Given the description of an element on the screen output the (x, y) to click on. 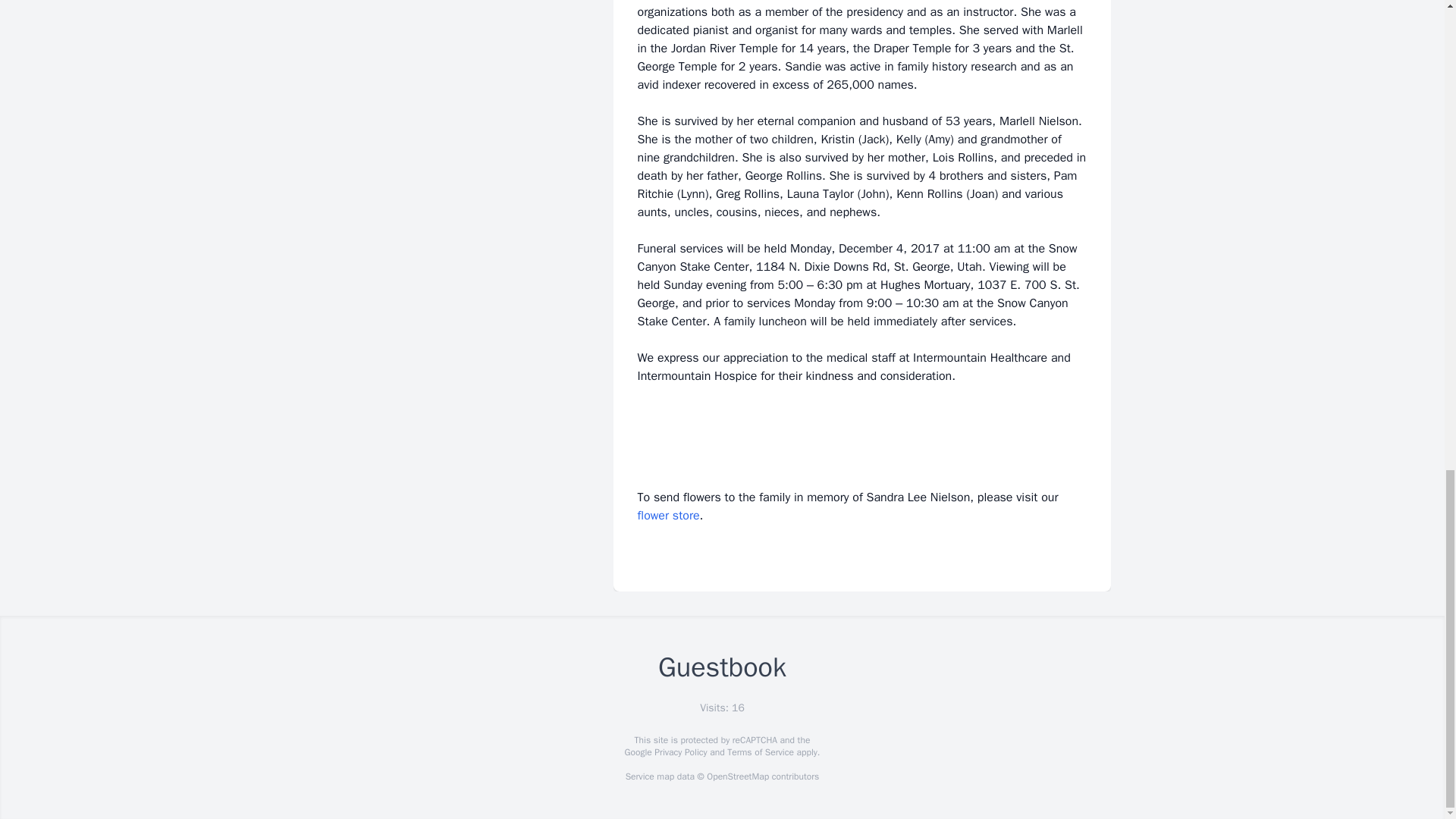
Privacy Policy (679, 752)
Terms of Service (759, 752)
flower store (667, 515)
OpenStreetMap (737, 776)
